Given the description of an element on the screen output the (x, y) to click on. 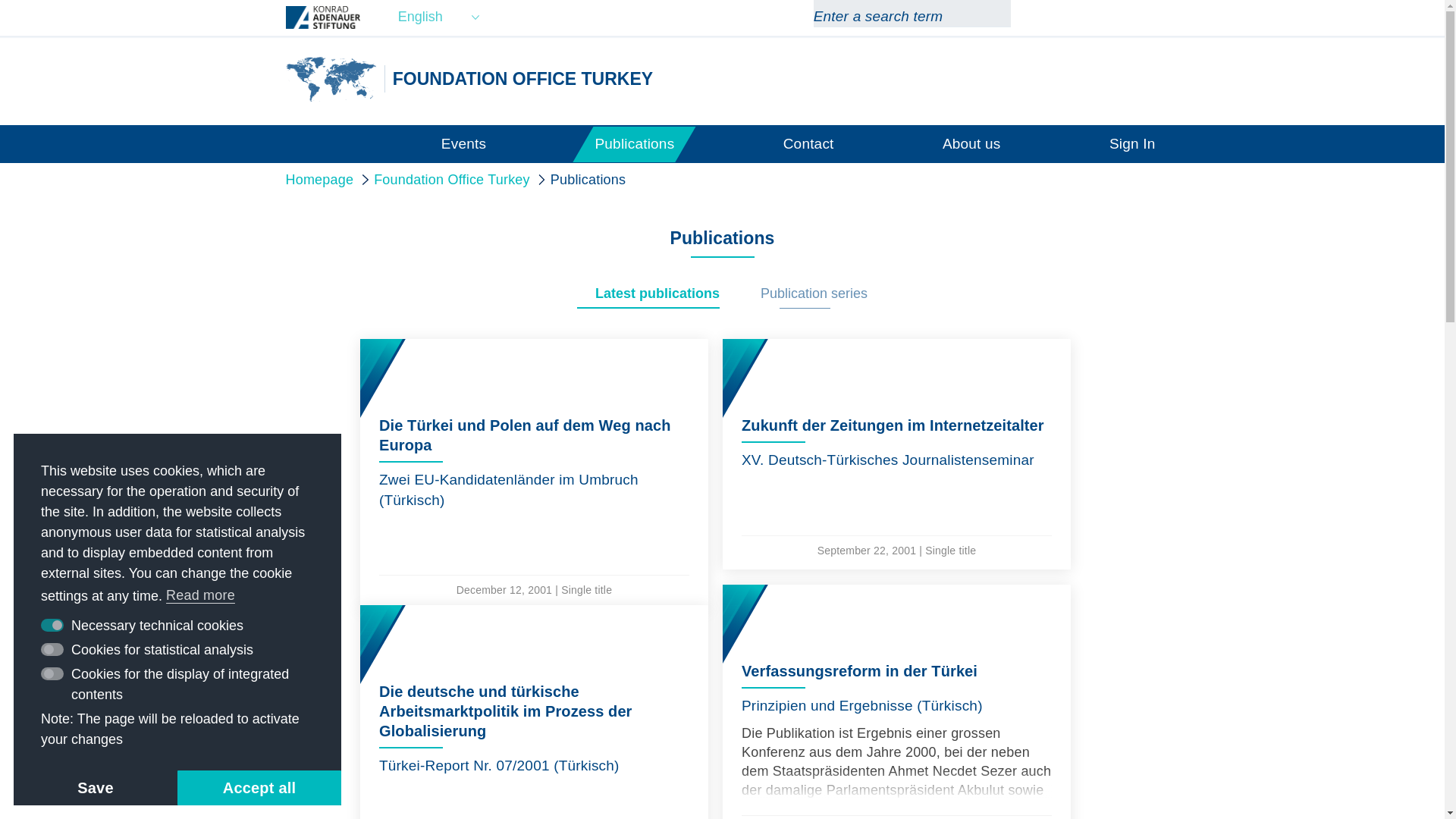
Accept all (258, 787)
Publications (634, 142)
LinkedIn (1122, 17)
Zukunft der Zeitungen im Internetzeitalter (896, 454)
Youtube (1149, 16)
Foundation Office Turkey (330, 78)
Skip to Main Content (3, 3)
Facebook (1068, 16)
Read more (201, 595)
Instagram (1095, 17)
Youtube (1149, 17)
Sign In (1132, 142)
Save (95, 787)
Contact (808, 142)
Instagram (1095, 16)
